Given the description of an element on the screen output the (x, y) to click on. 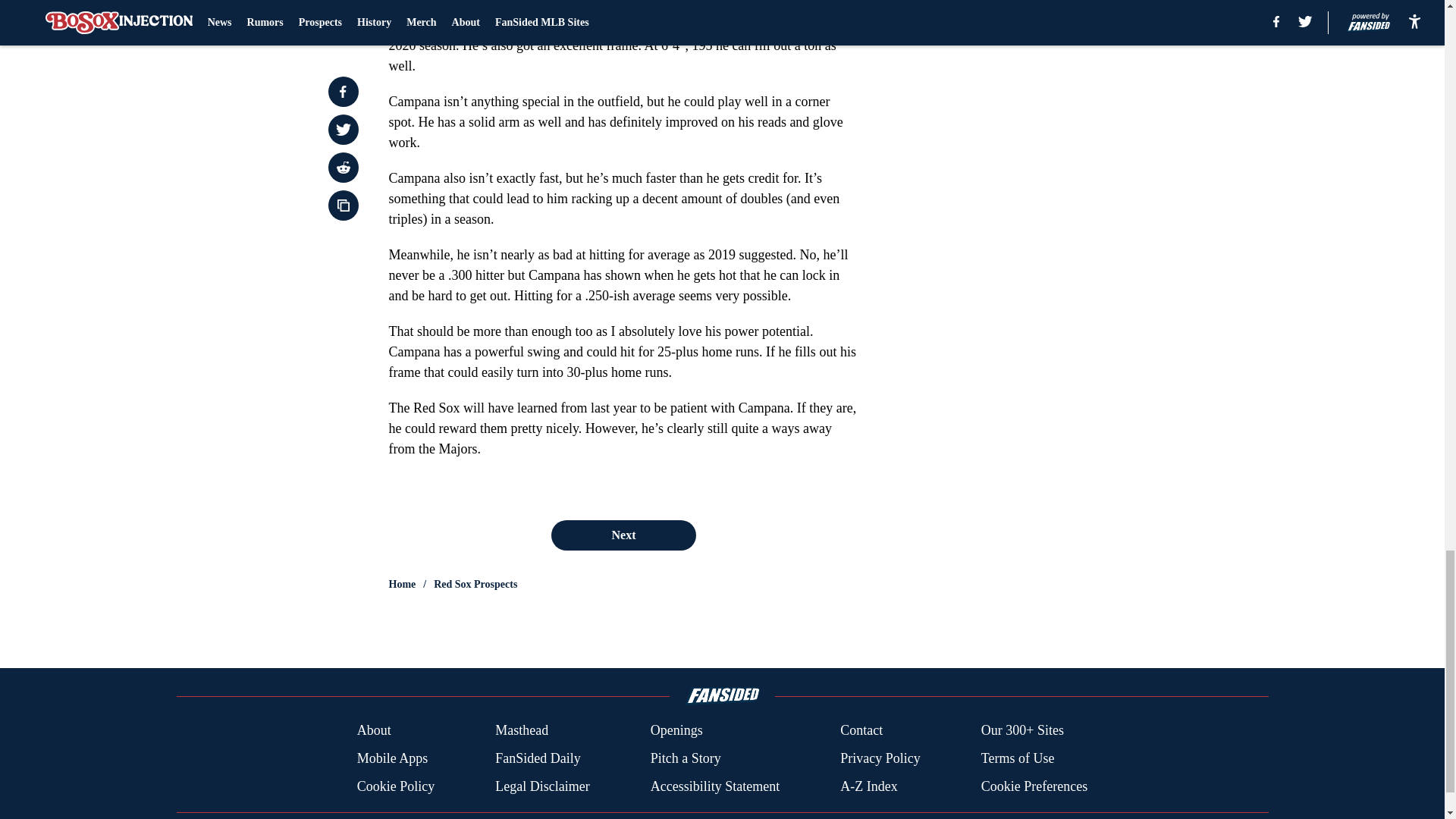
Privacy Policy (880, 758)
Red Sox Prospects (474, 584)
Masthead (521, 730)
Terms of Use (1017, 758)
Contact (861, 730)
Mobile Apps (392, 758)
Pitch a Story (685, 758)
About (373, 730)
Home (401, 584)
Openings (676, 730)
Next (622, 535)
FanSided Daily (537, 758)
